Given the description of an element on the screen output the (x, y) to click on. 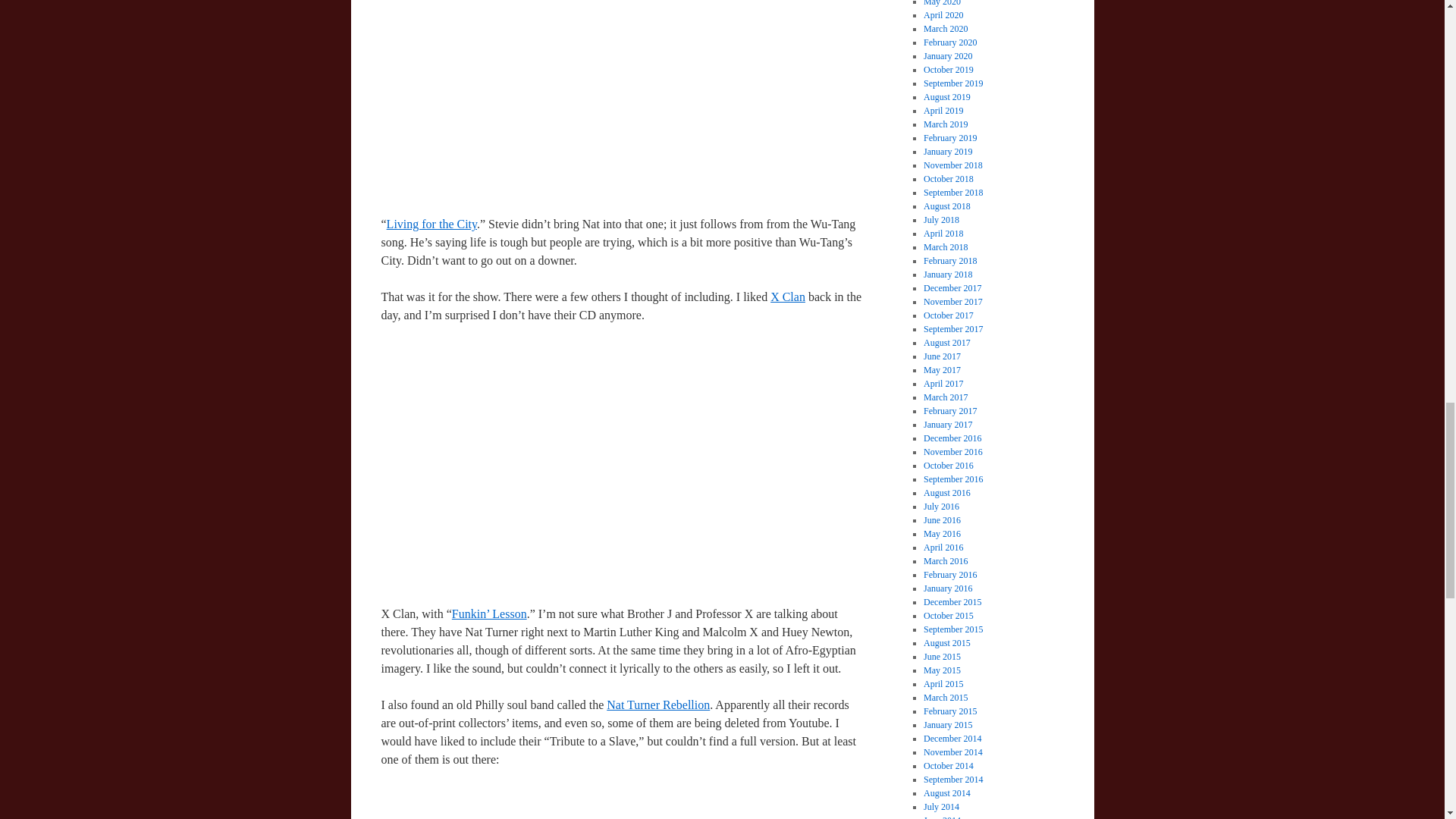
Nat Turner Rebellion (658, 704)
X Clan (787, 296)
Living for the City (432, 223)
